Given the description of an element on the screen output the (x, y) to click on. 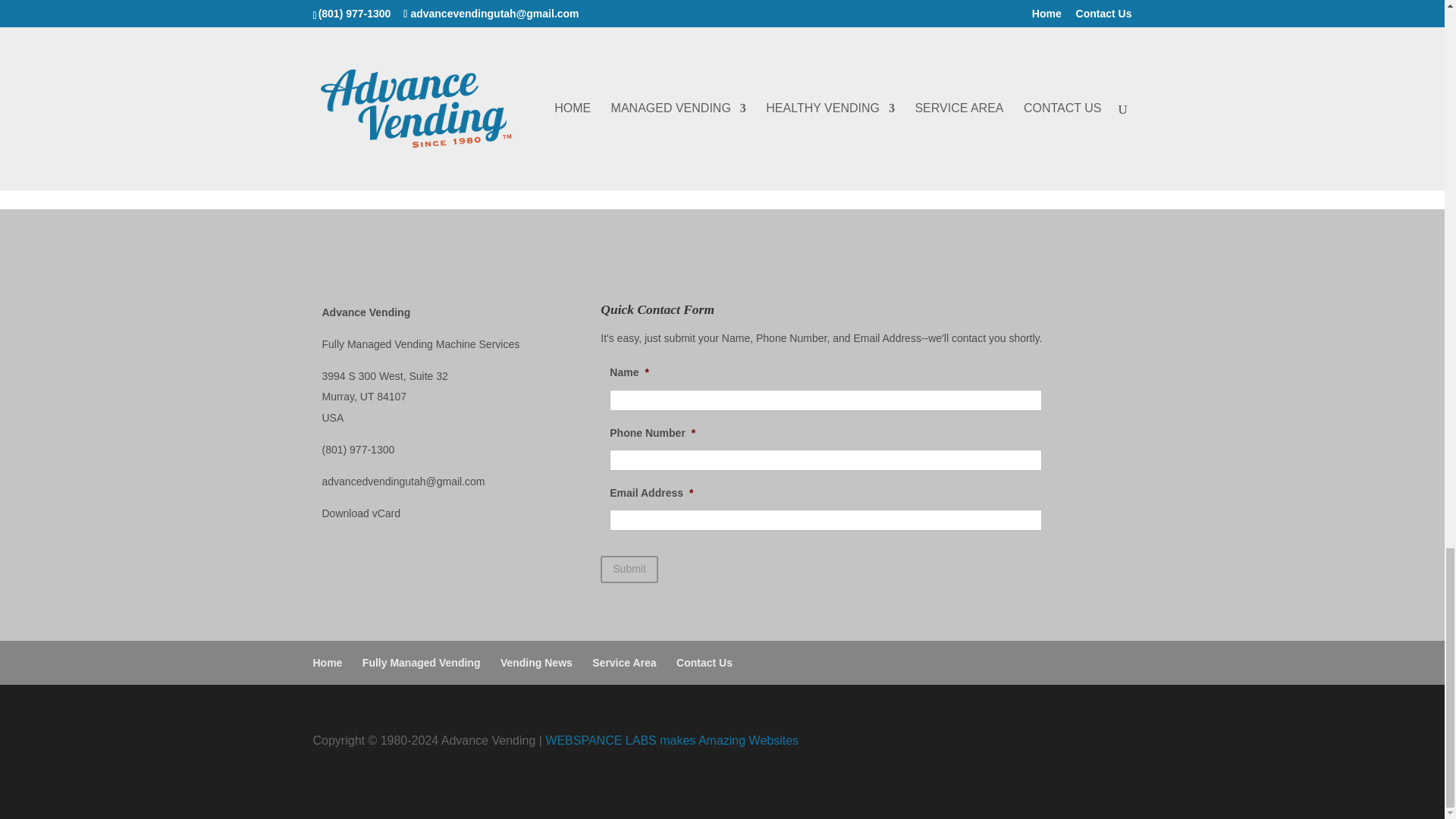
Submit (628, 569)
logged in (407, 116)
